Given the description of an element on the screen output the (x, y) to click on. 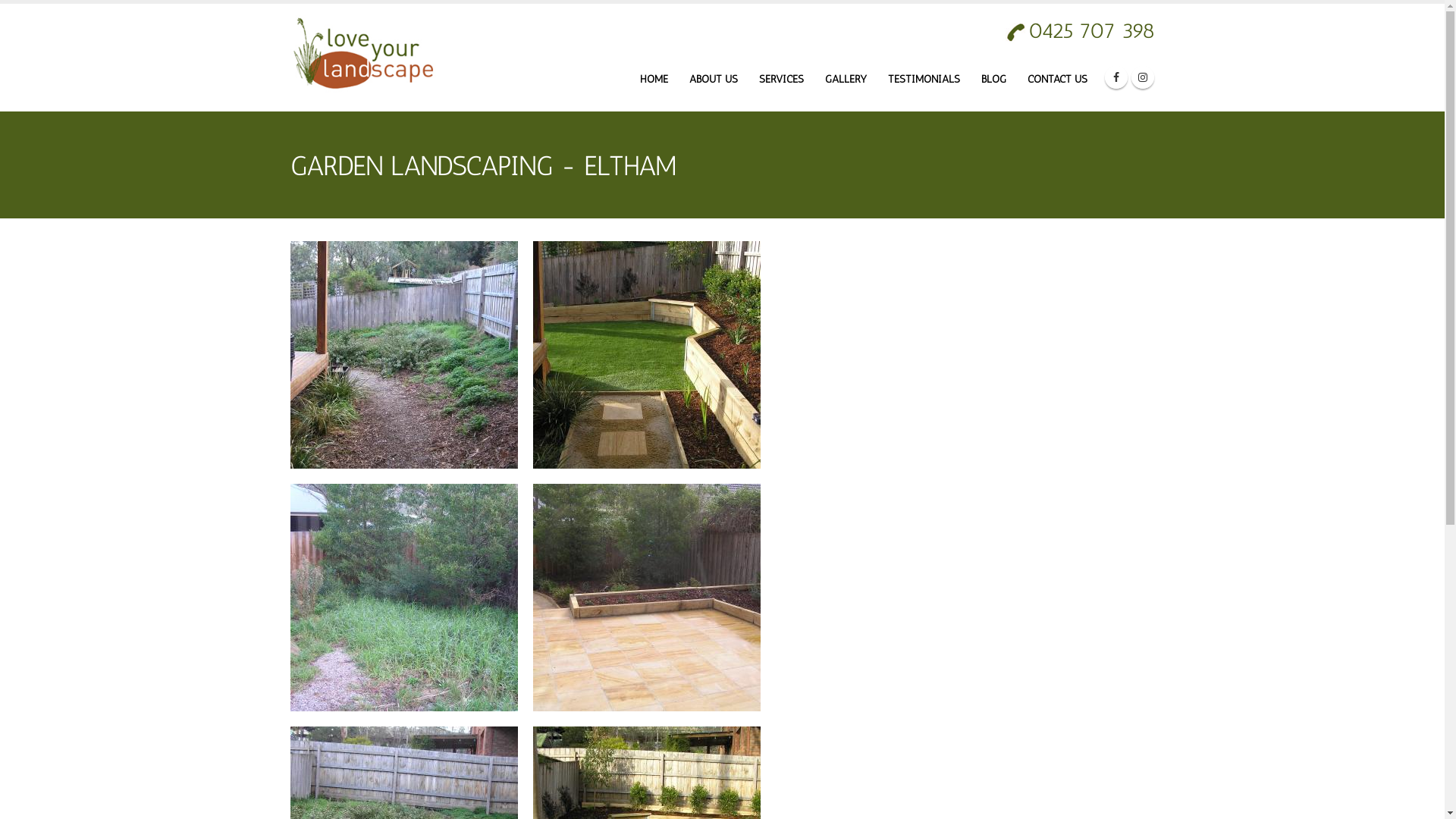
Garden landscaping - Eltham Element type: hover (403, 353)
Garden landscaping - Eltham Element type: hover (645, 354)
Instagram Element type: hover (1142, 76)
Garden landscaping - Eltham Element type: hover (645, 597)
Garden landscaping - Eltham Element type: hover (645, 353)
TESTIMONIALS Element type: text (923, 79)
BLOG Element type: text (992, 79)
SERVICES Element type: text (781, 79)
Garden landscaping - Eltham Element type: hover (645, 596)
HOME Element type: text (653, 79)
Garden landscaping - Eltham Element type: hover (403, 597)
Facebook Element type: hover (1115, 76)
GALLERY Element type: text (844, 79)
ABOUT US Element type: text (713, 79)
Garden landscaping - Eltham Element type: hover (403, 596)
CONTACT US Element type: text (1057, 79)
Garden landscaping - Eltham Element type: hover (403, 354)
